Given the description of an element on the screen output the (x, y) to click on. 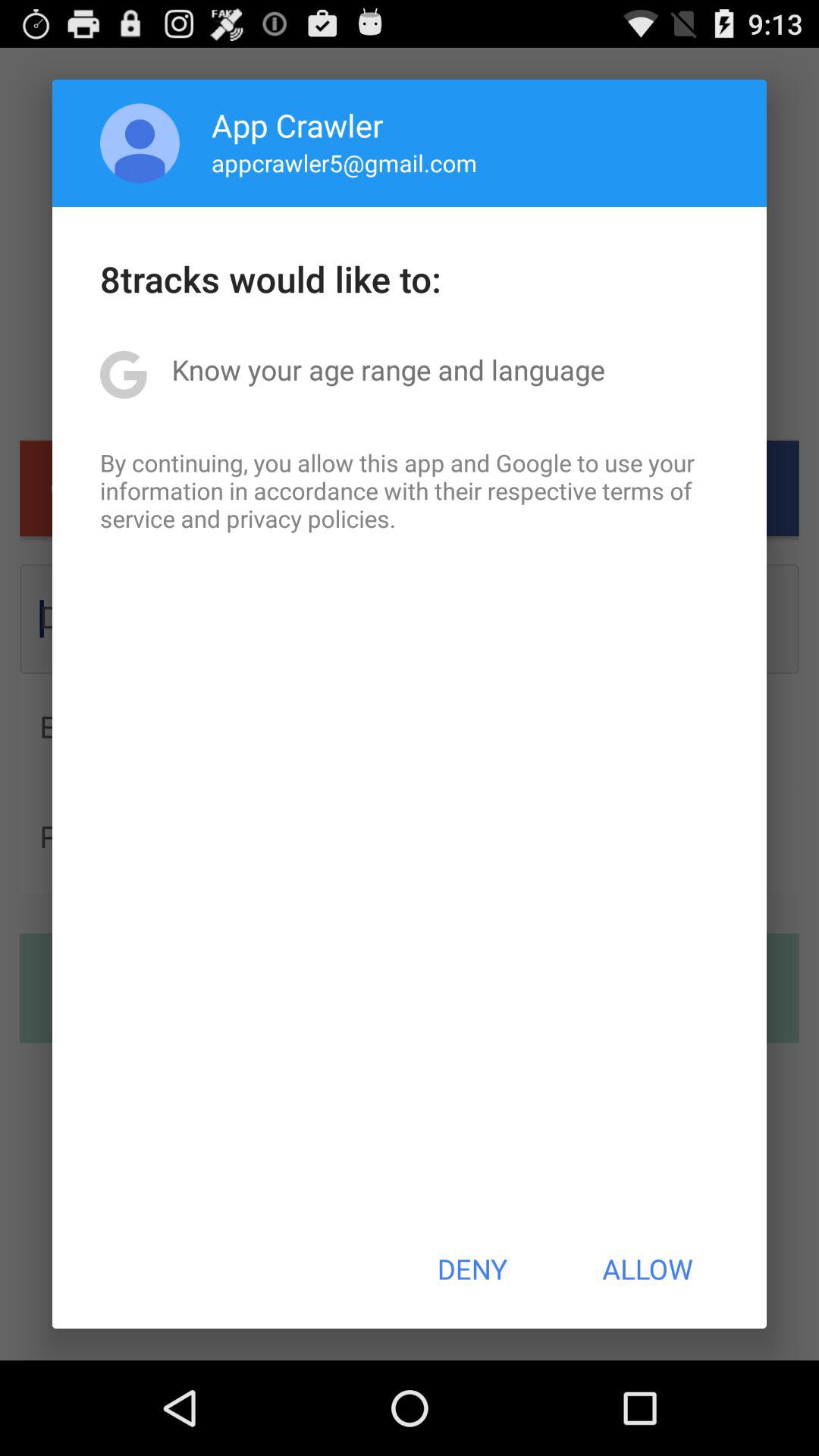
open the button next to allow icon (471, 1268)
